Given the description of an element on the screen output the (x, y) to click on. 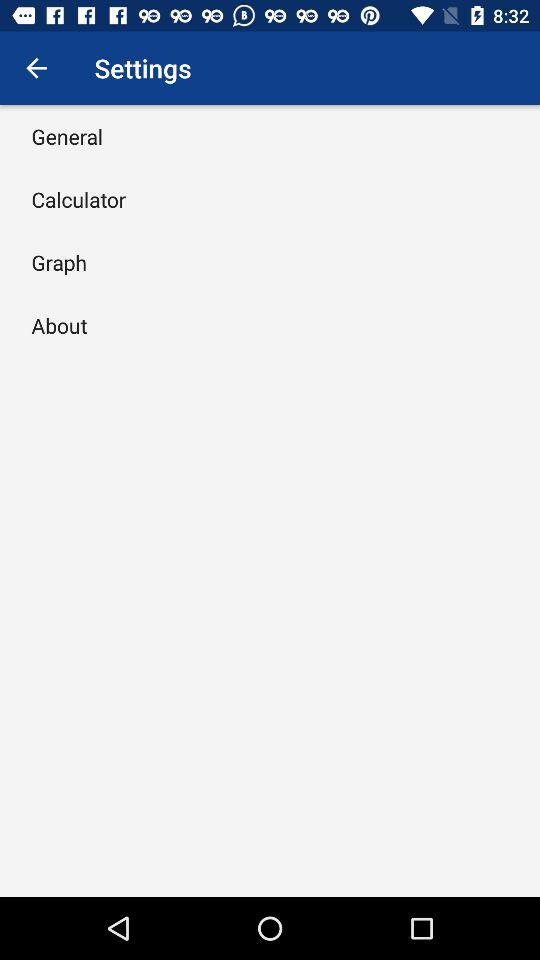
scroll to the about (59, 325)
